Given the description of an element on the screen output the (x, y) to click on. 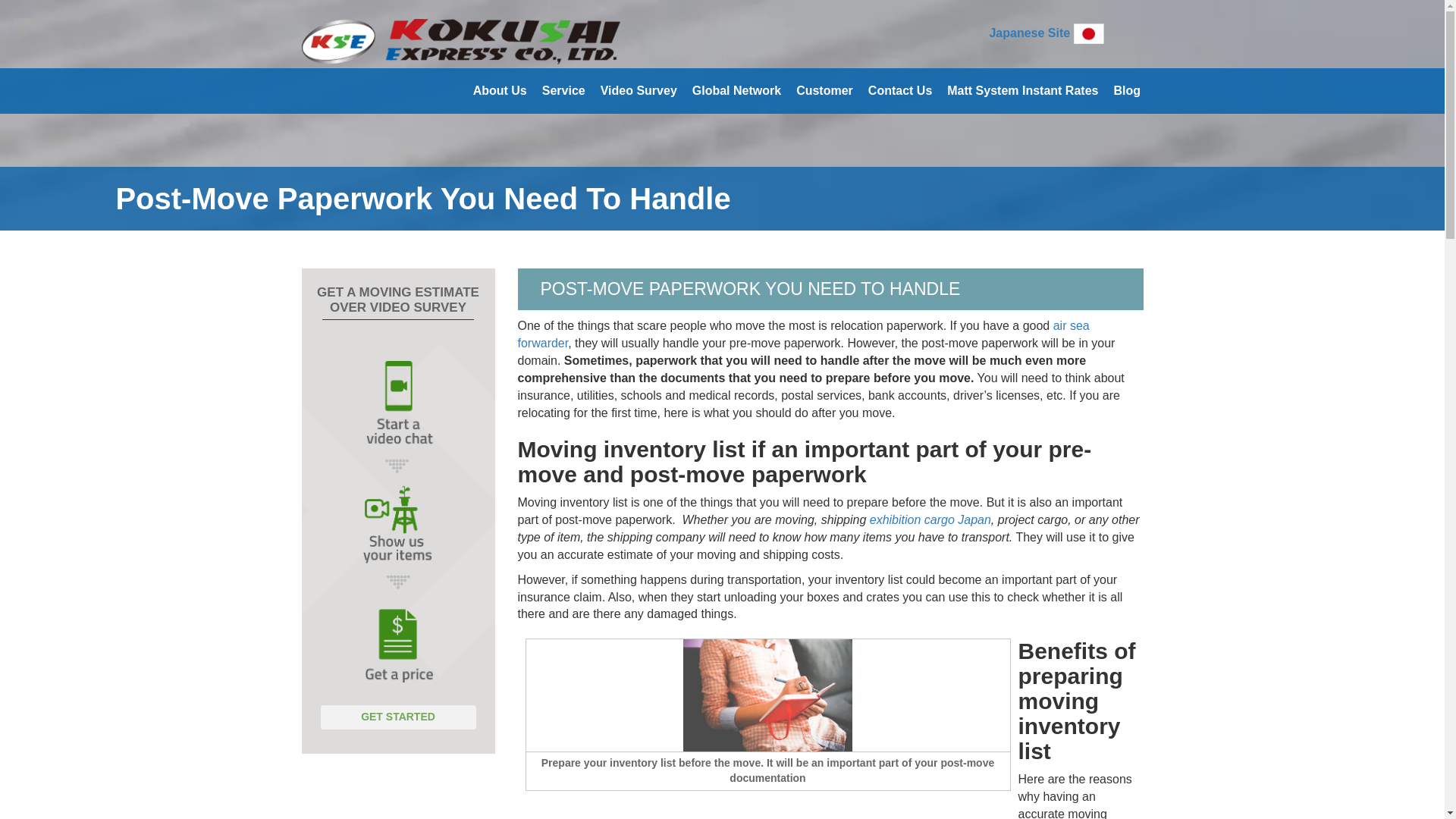
Global Network (736, 90)
About Us (499, 90)
Japanese Site (1029, 32)
air sea forwarder (802, 334)
Blog (1126, 90)
About Us (499, 90)
Matt System Instant Rates (1022, 90)
Customer (824, 90)
Contact Us (900, 90)
Video Survey (638, 90)
Service (563, 90)
Service (563, 90)
exhibition cargo Japan (930, 519)
